Given the description of an element on the screen output the (x, y) to click on. 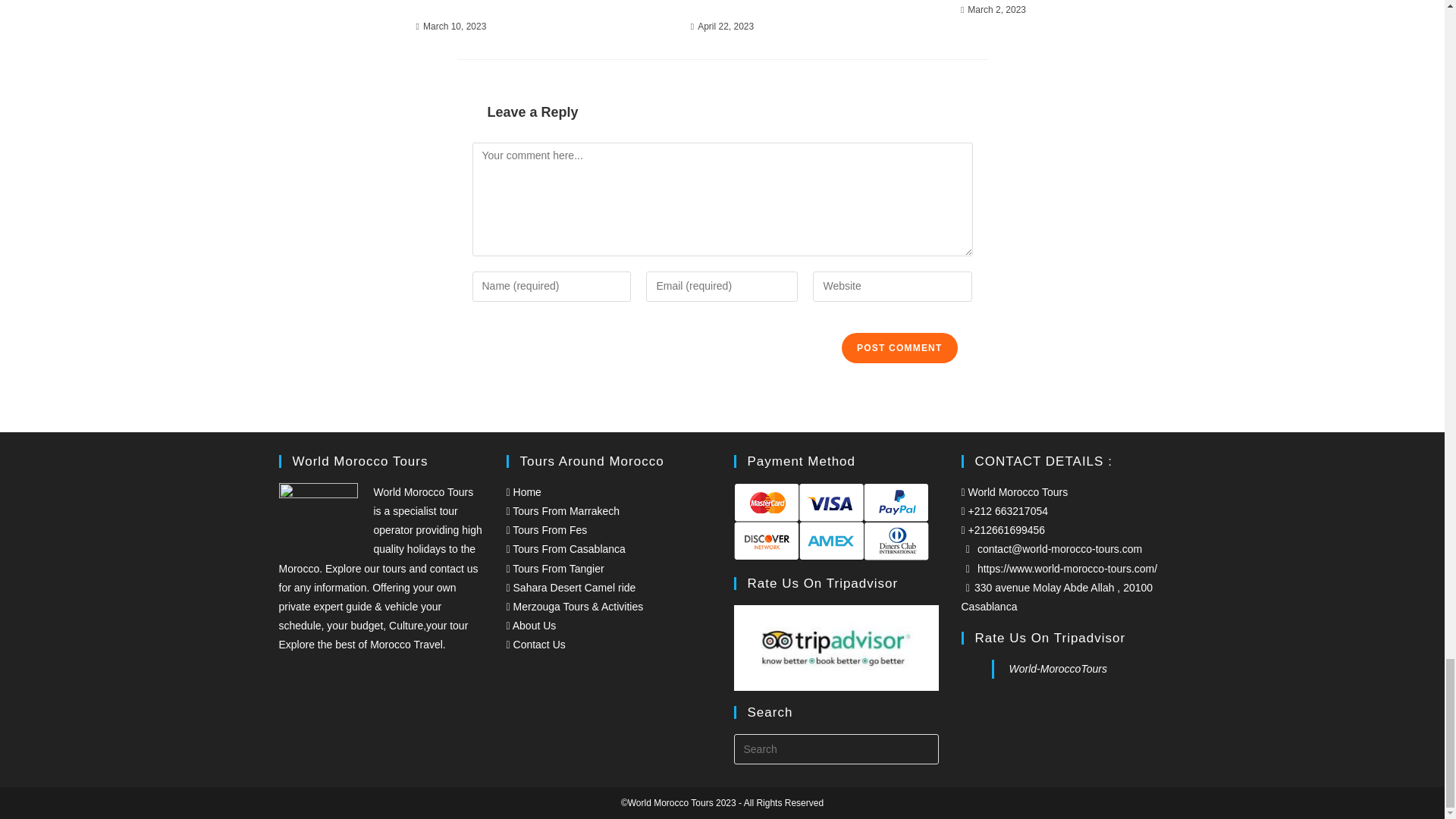
Post Comment (898, 347)
